Given the description of an element on the screen output the (x, y) to click on. 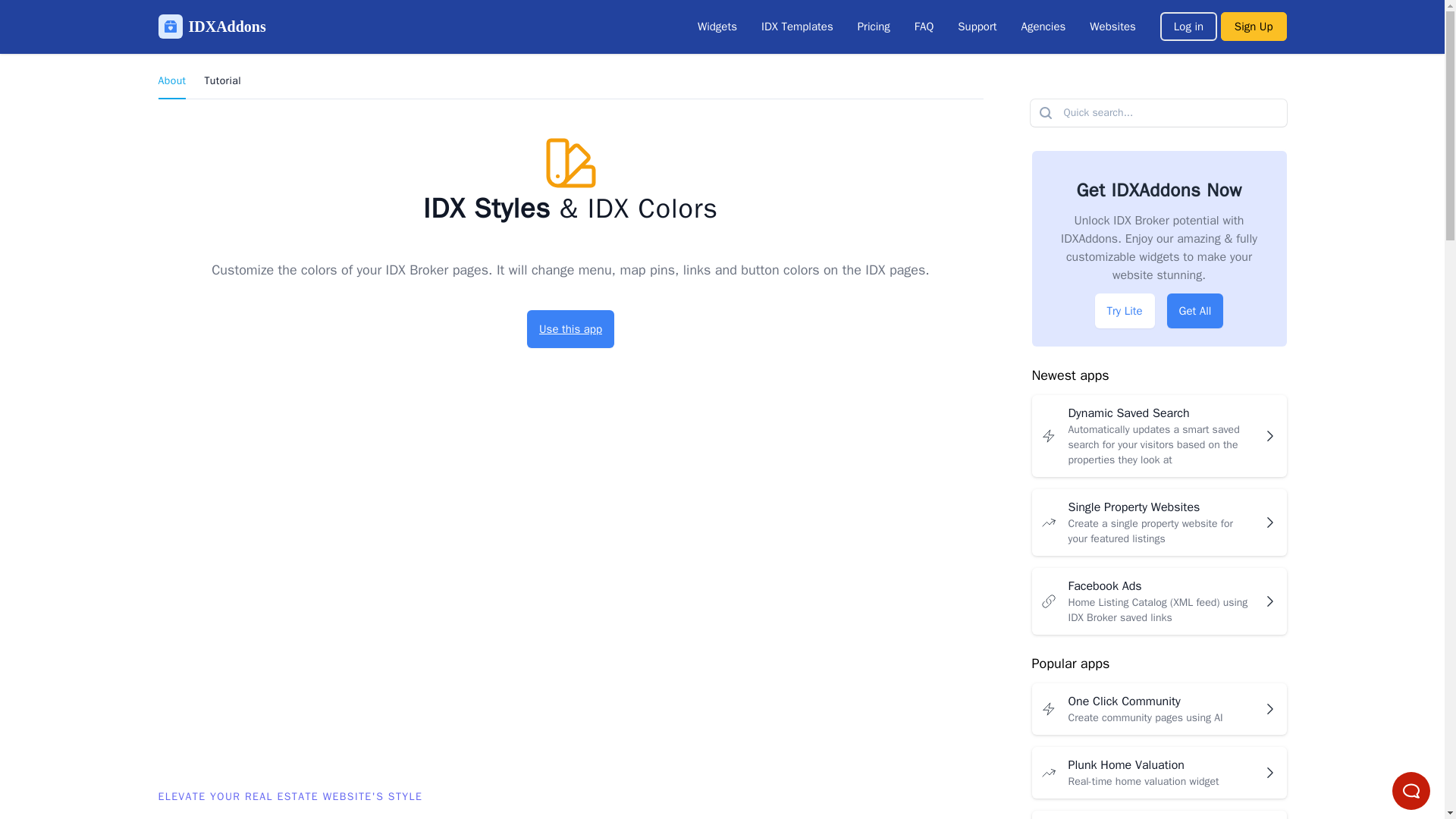
Pricing (873, 26)
FAQ (923, 26)
Support (976, 26)
IDXAddons (210, 26)
Agencies (1043, 26)
Change the colors of your IDX Broker pages (1157, 814)
Websites (716, 26)
Quick search... (1157, 772)
IDX Templates (1157, 708)
